Given the description of an element on the screen output the (x, y) to click on. 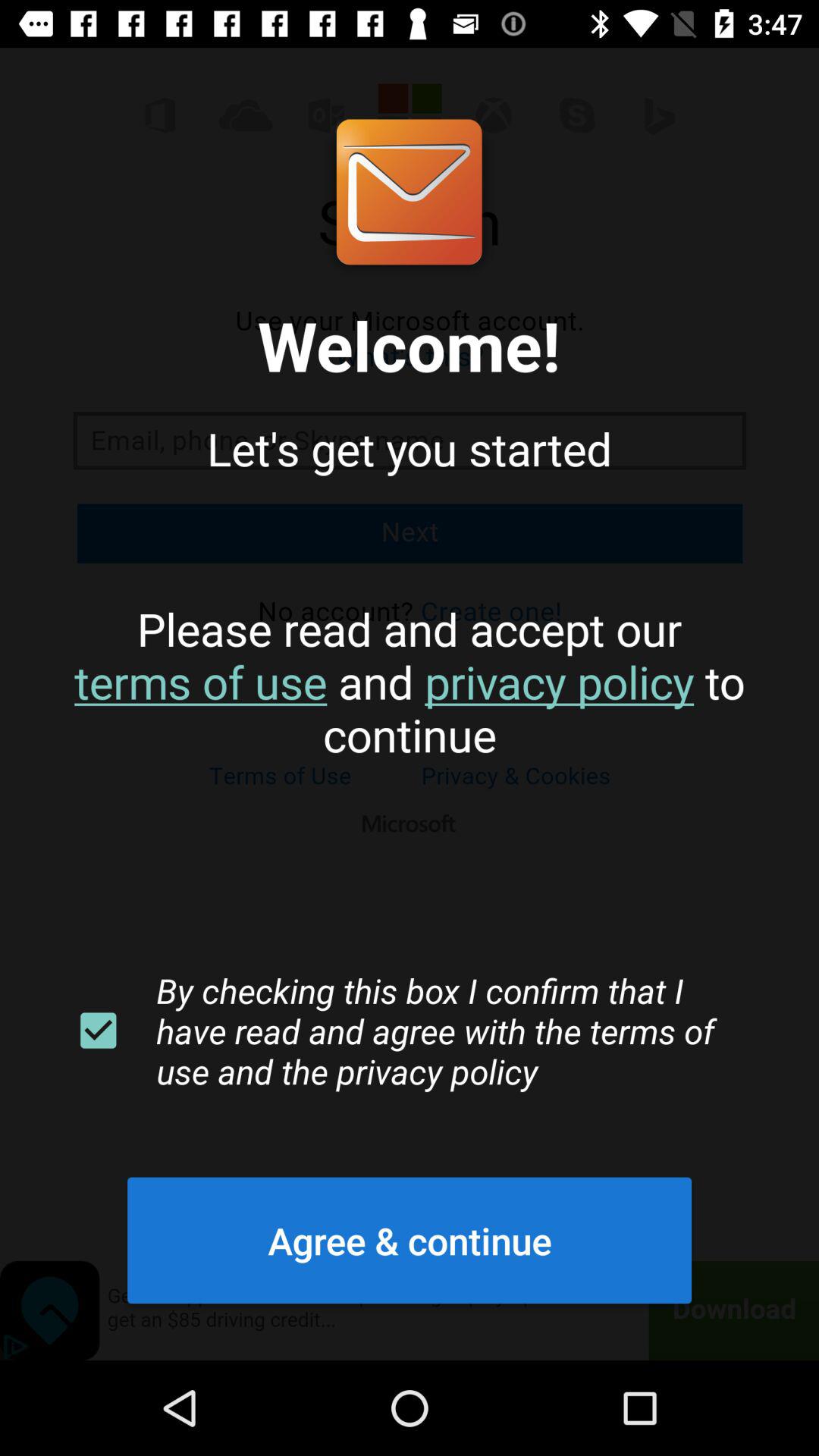
turn off checkbox at the bottom left corner (98, 1030)
